Given the description of an element on the screen output the (x, y) to click on. 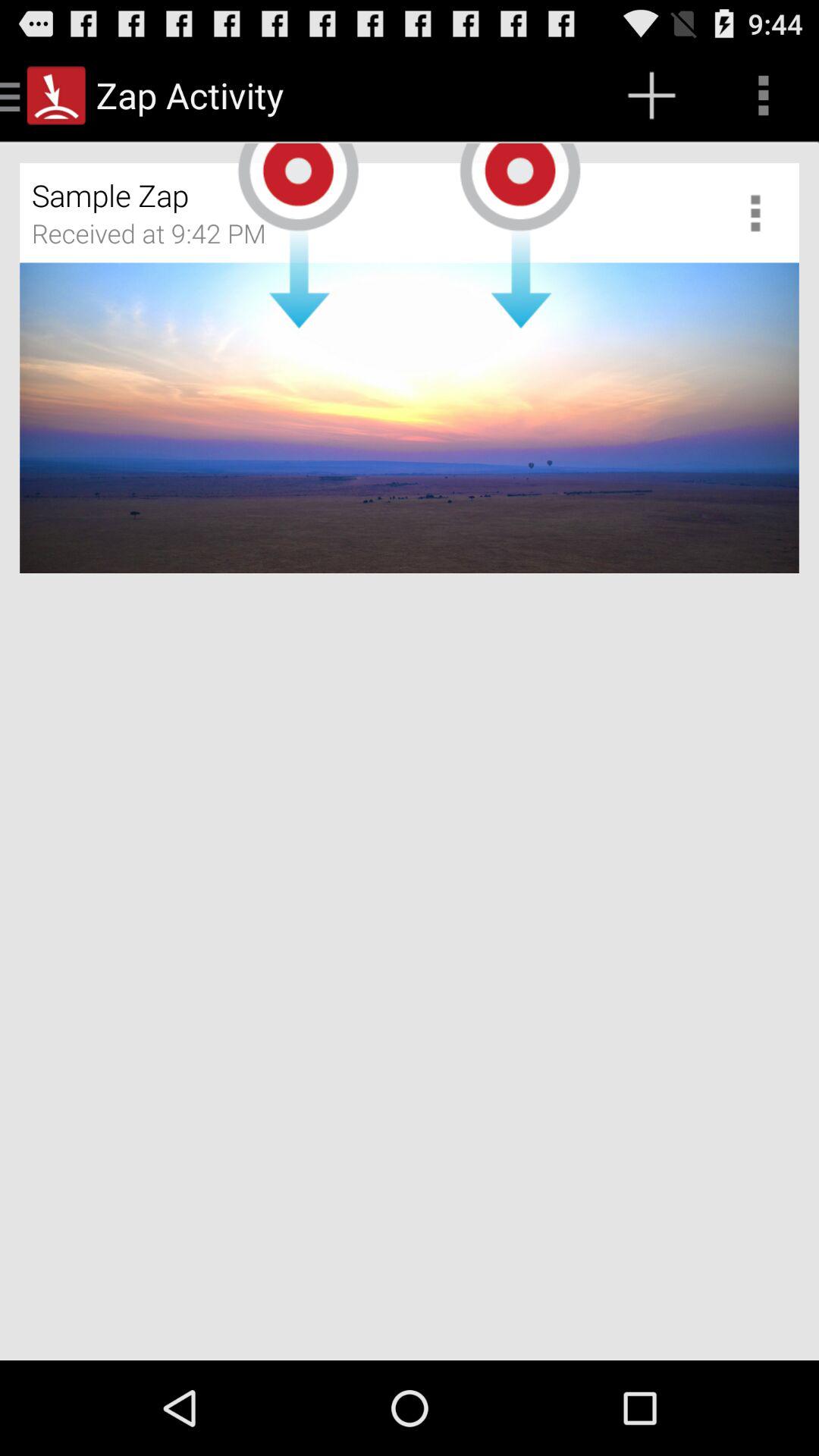
launch the item below the sample zap app (158, 238)
